Given the description of an element on the screen output the (x, y) to click on. 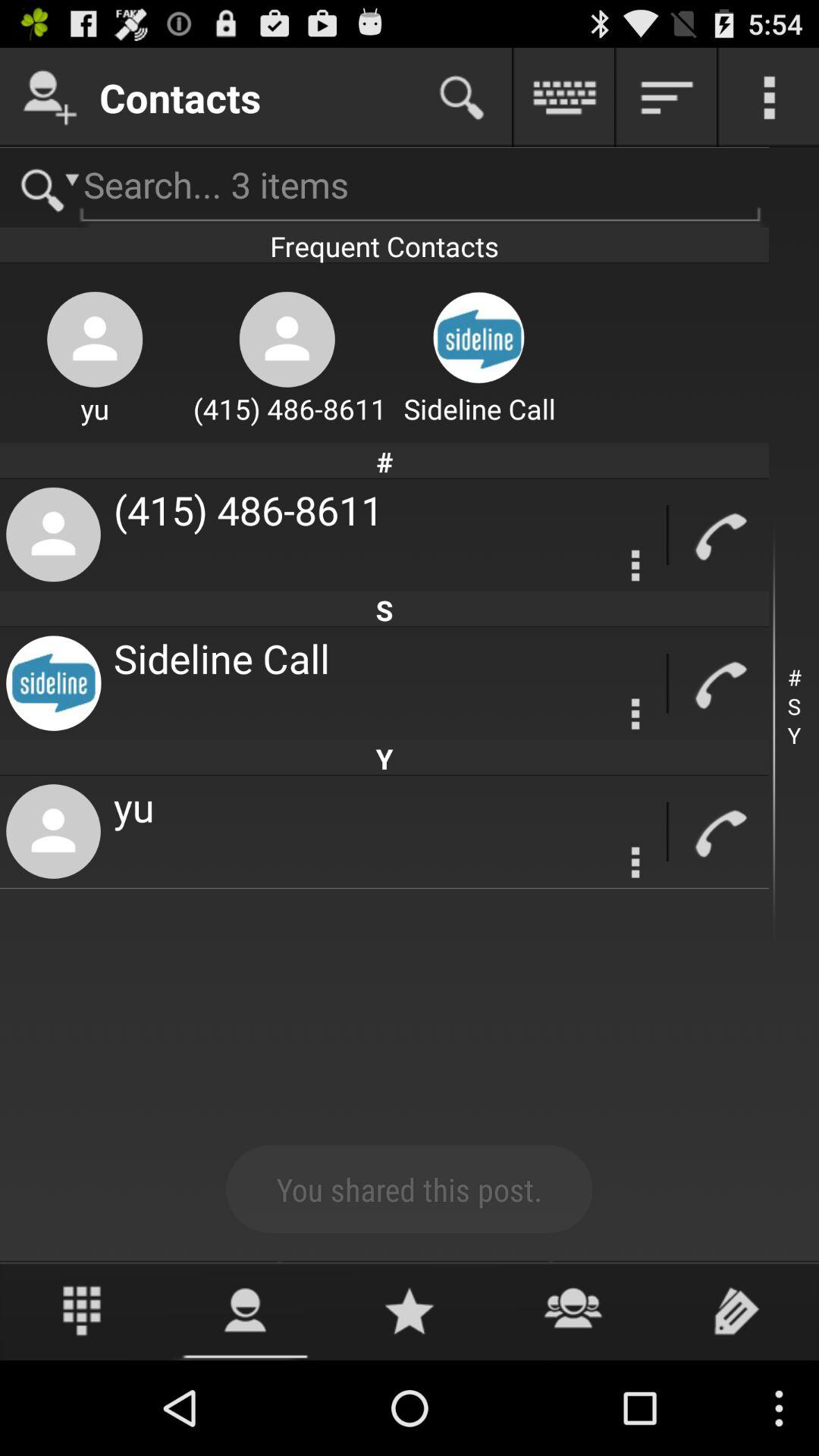
call this profile (718, 831)
